Given the description of an element on the screen output the (x, y) to click on. 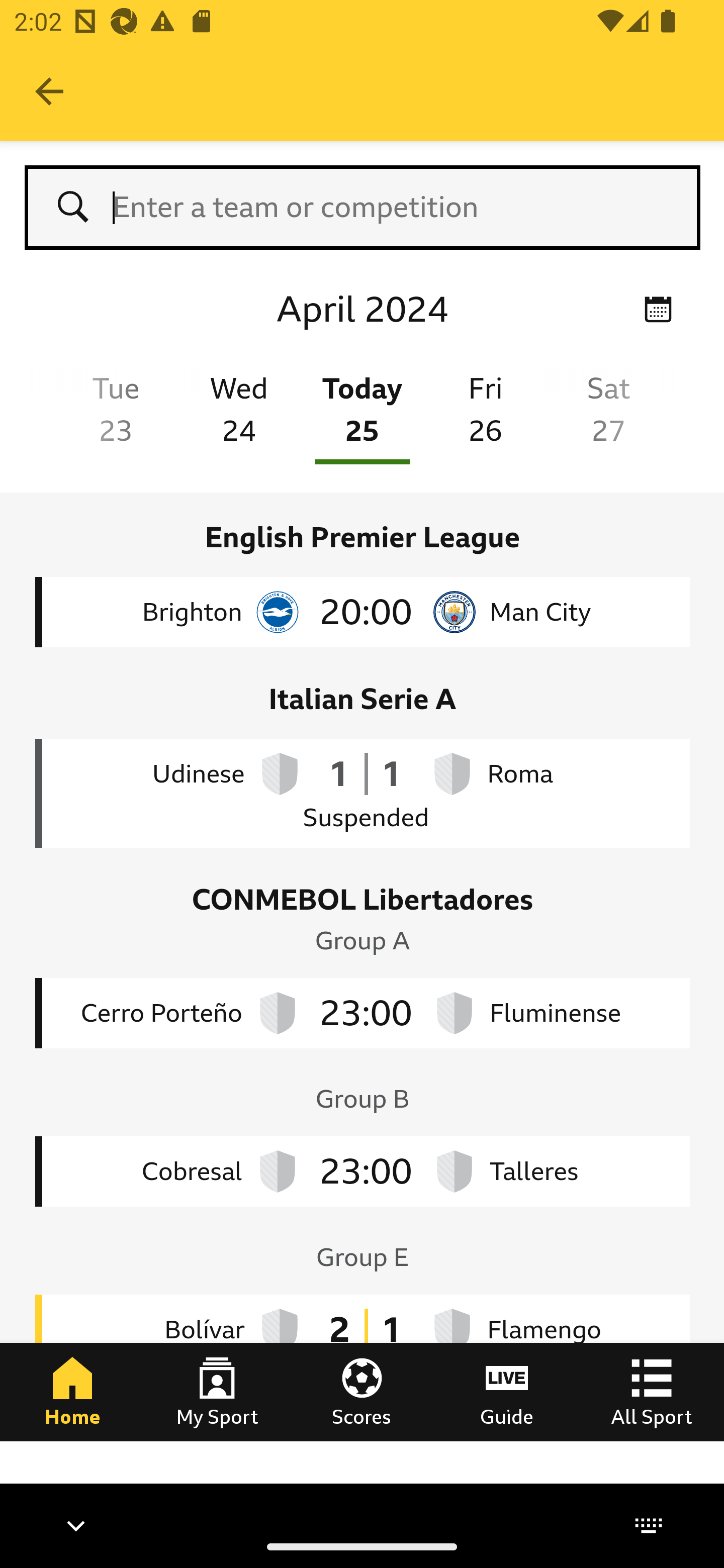
Navigate up (49, 91)
My Sport (216, 1391)
Scores (361, 1391)
Guide (506, 1391)
All Sport (651, 1391)
